Given the description of an element on the screen output the (x, y) to click on. 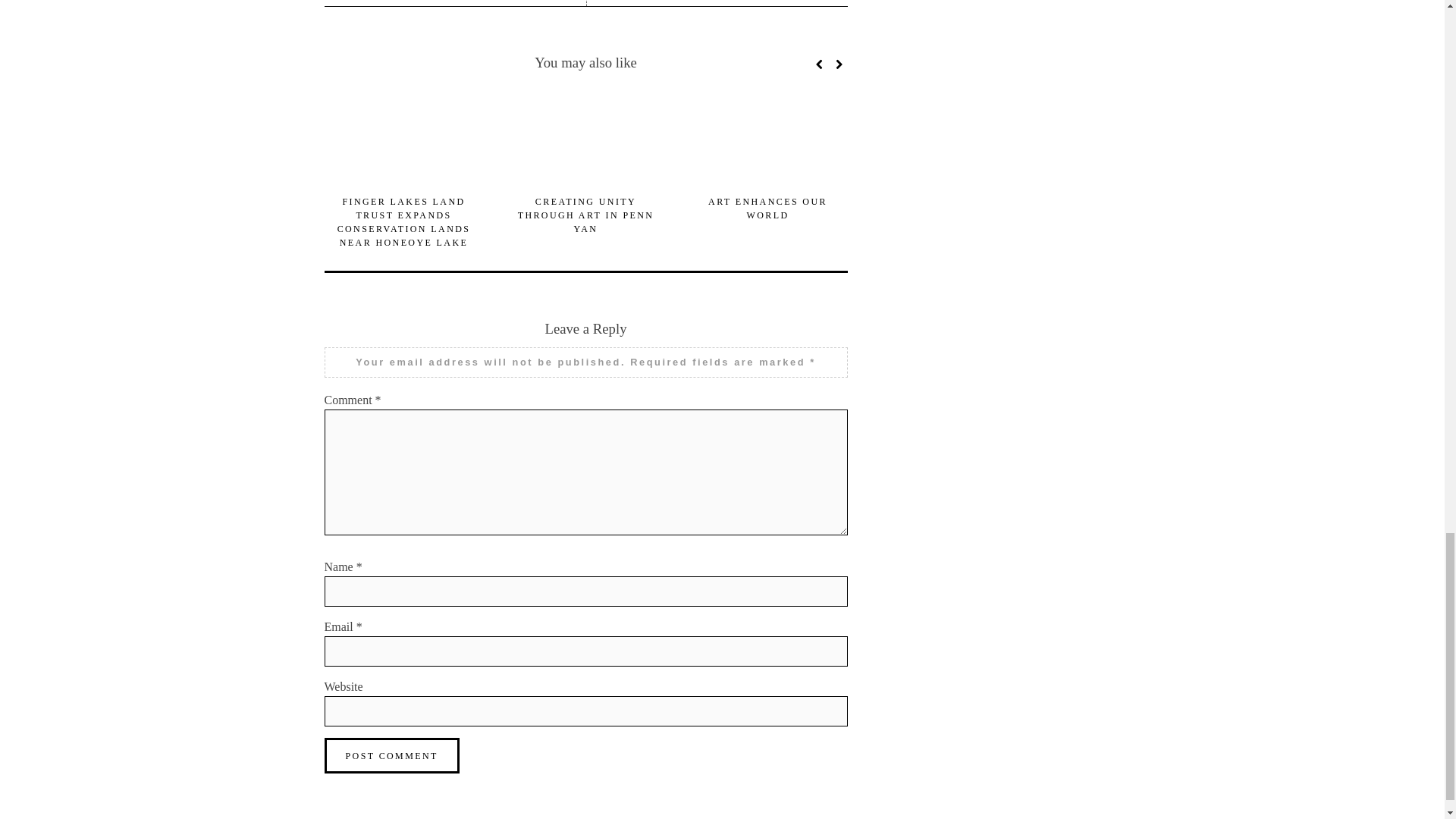
Post Comment (392, 755)
